Given the description of an element on the screen output the (x, y) to click on. 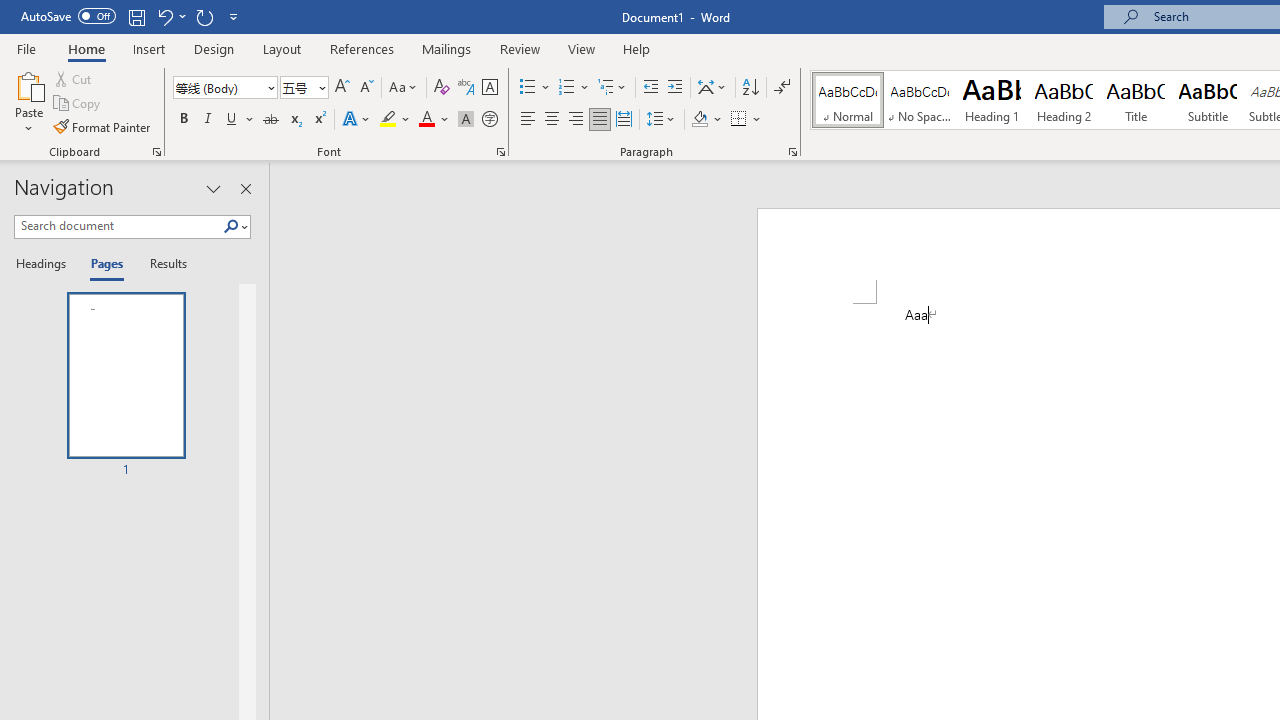
Heading 2 (1063, 100)
